Given the description of an element on the screen output the (x, y) to click on. 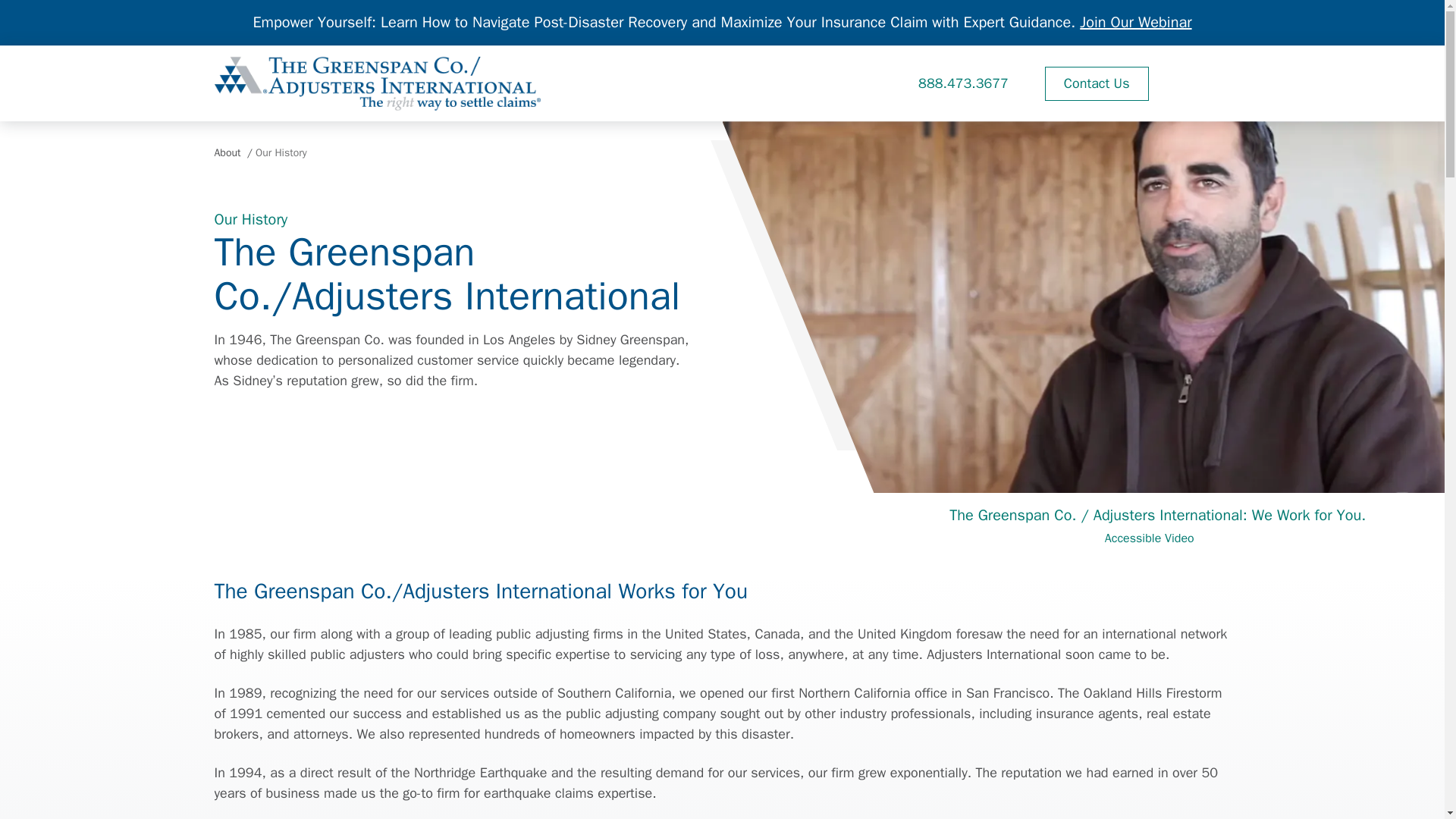
888.473.3677 (963, 83)
Accessible Video (1158, 538)
Join Our Webinar (1135, 22)
Contact Us (1096, 83)
Open navigation menu (1207, 83)
About (227, 152)
The Greenspan Co. (377, 83)
